Given the description of an element on the screen output the (x, y) to click on. 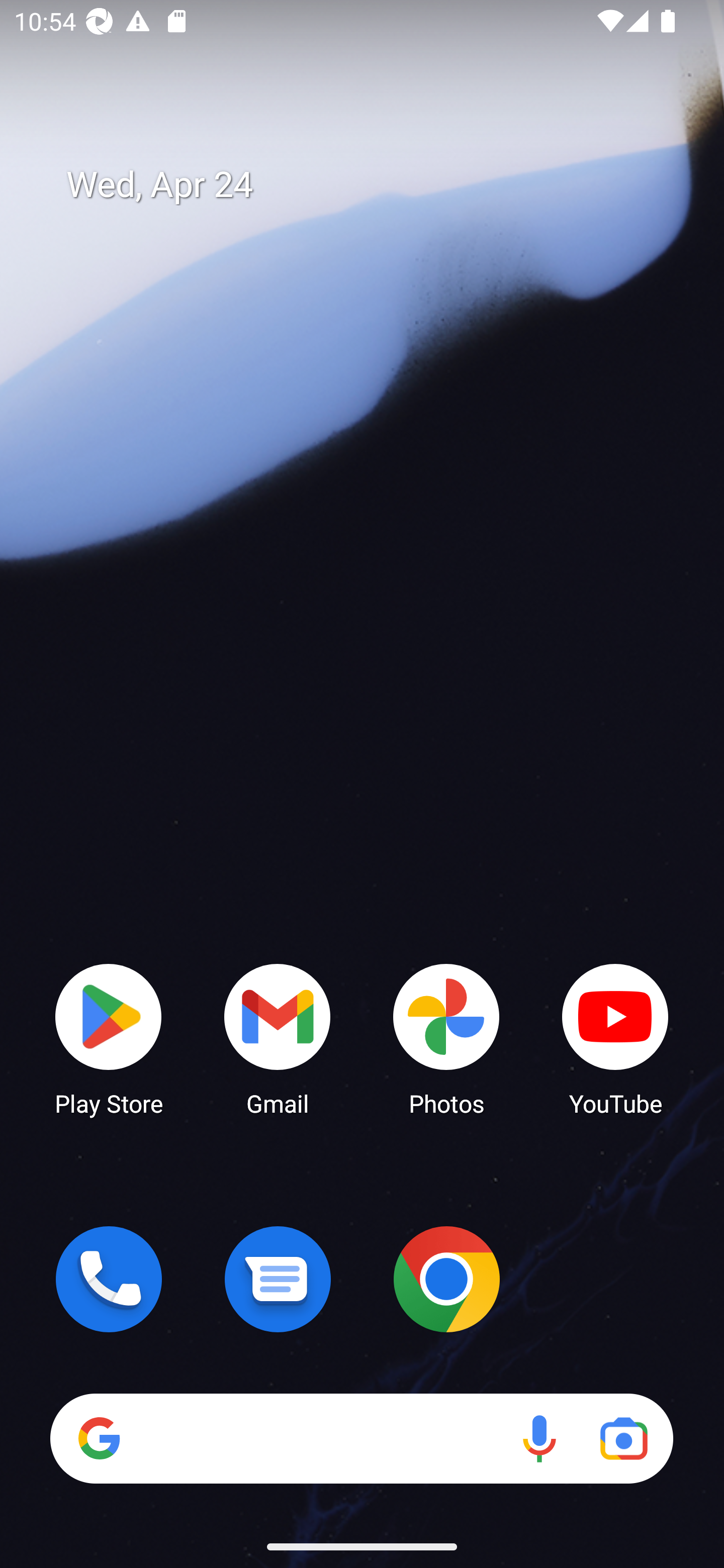
Wed, Apr 24 (375, 184)
Play Store (108, 1038)
Gmail (277, 1038)
Photos (445, 1038)
YouTube (615, 1038)
Phone (108, 1279)
Messages (277, 1279)
Chrome (446, 1279)
Search Voice search Google Lens (361, 1438)
Voice search (539, 1438)
Google Lens (623, 1438)
